Given the description of an element on the screen output the (x, y) to click on. 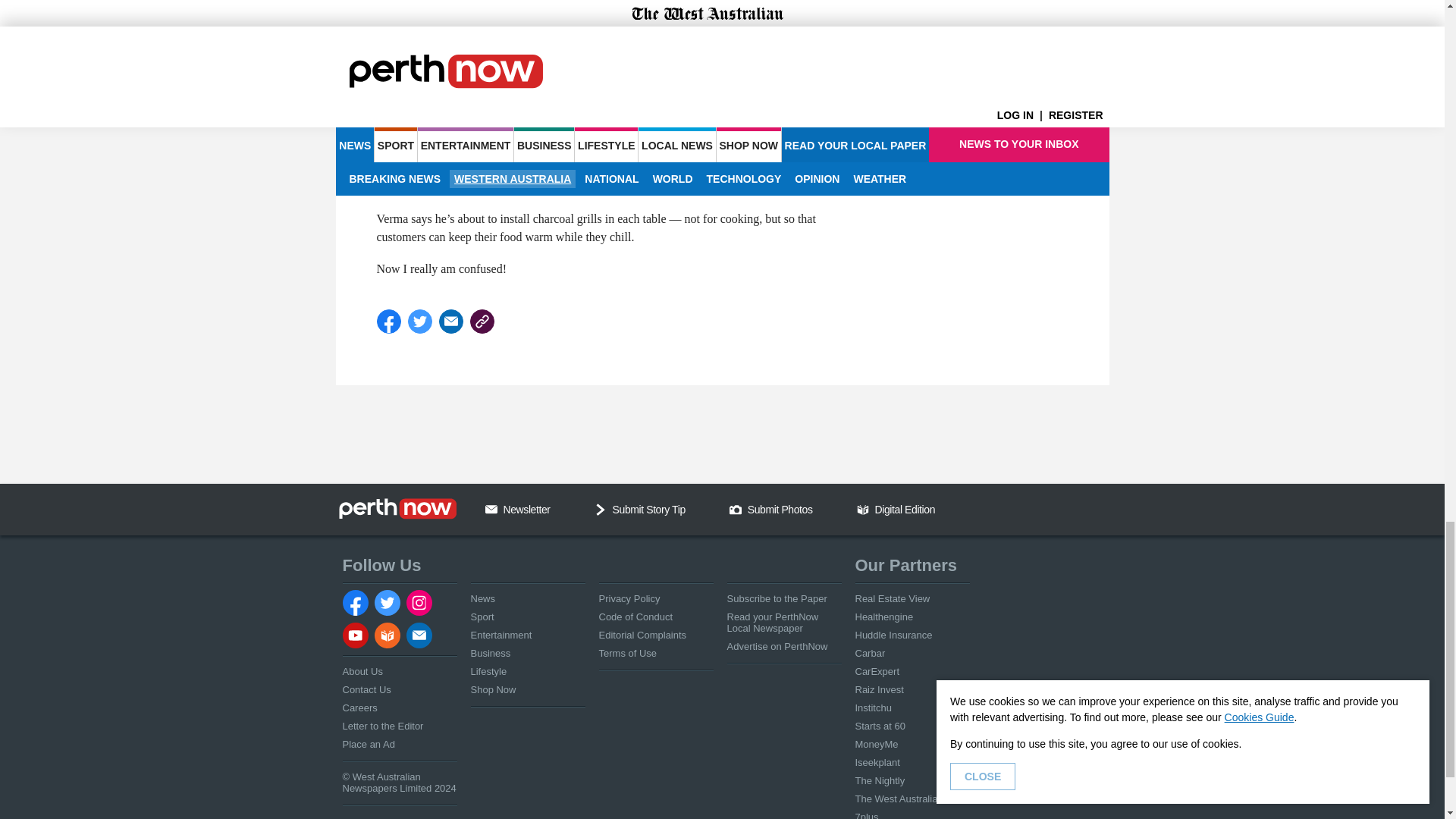
Chevron Down Icon (600, 509)
Email Us (490, 509)
Get Digital Edition (863, 509)
Camera Icon (735, 509)
